Given the description of an element on the screen output the (x, y) to click on. 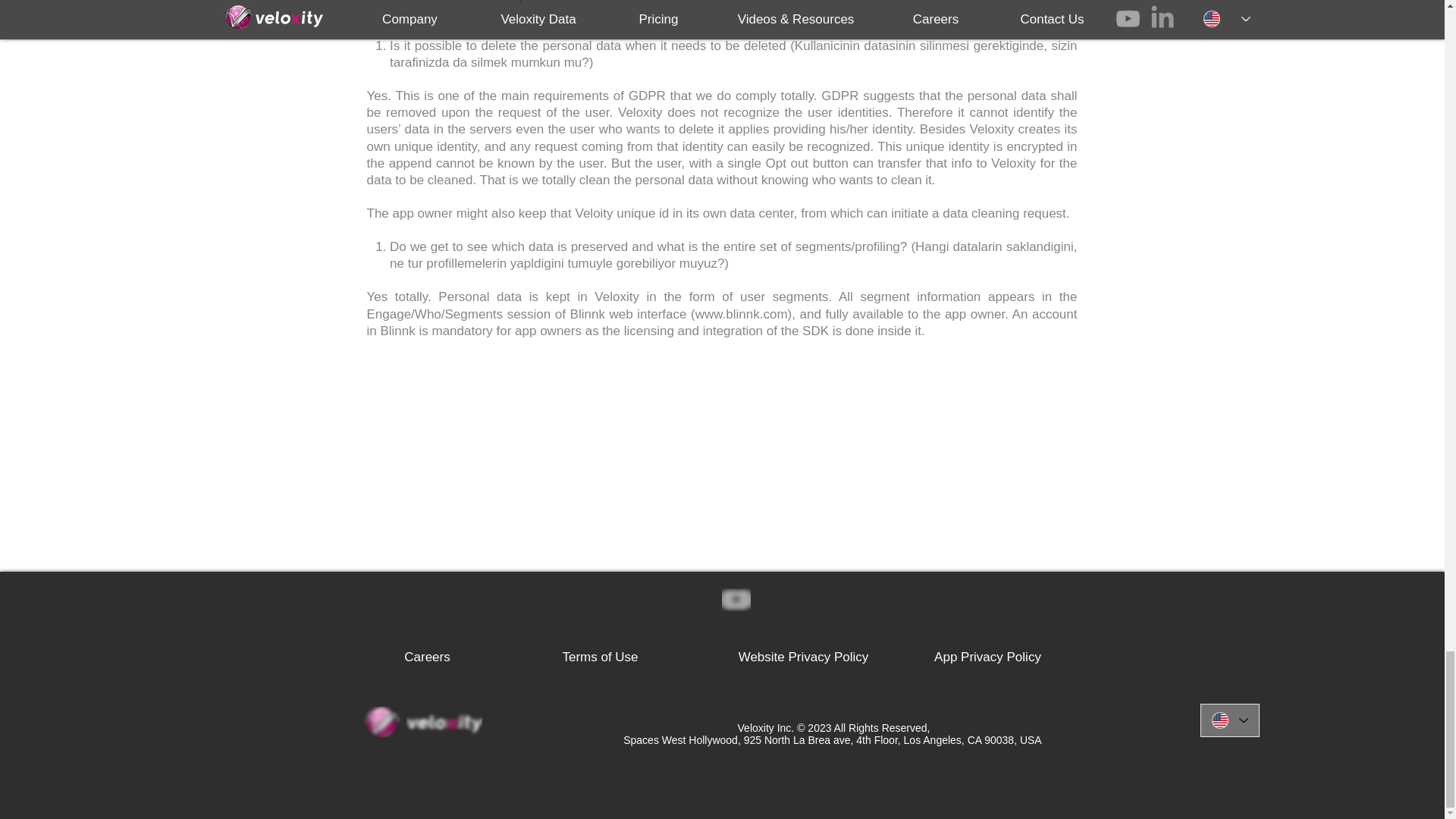
Terms of Use (599, 657)
www.blinnk.com (741, 314)
Website Privacy Policy (803, 657)
Careers (426, 657)
App Privacy Policy (988, 657)
